Given the description of an element on the screen output the (x, y) to click on. 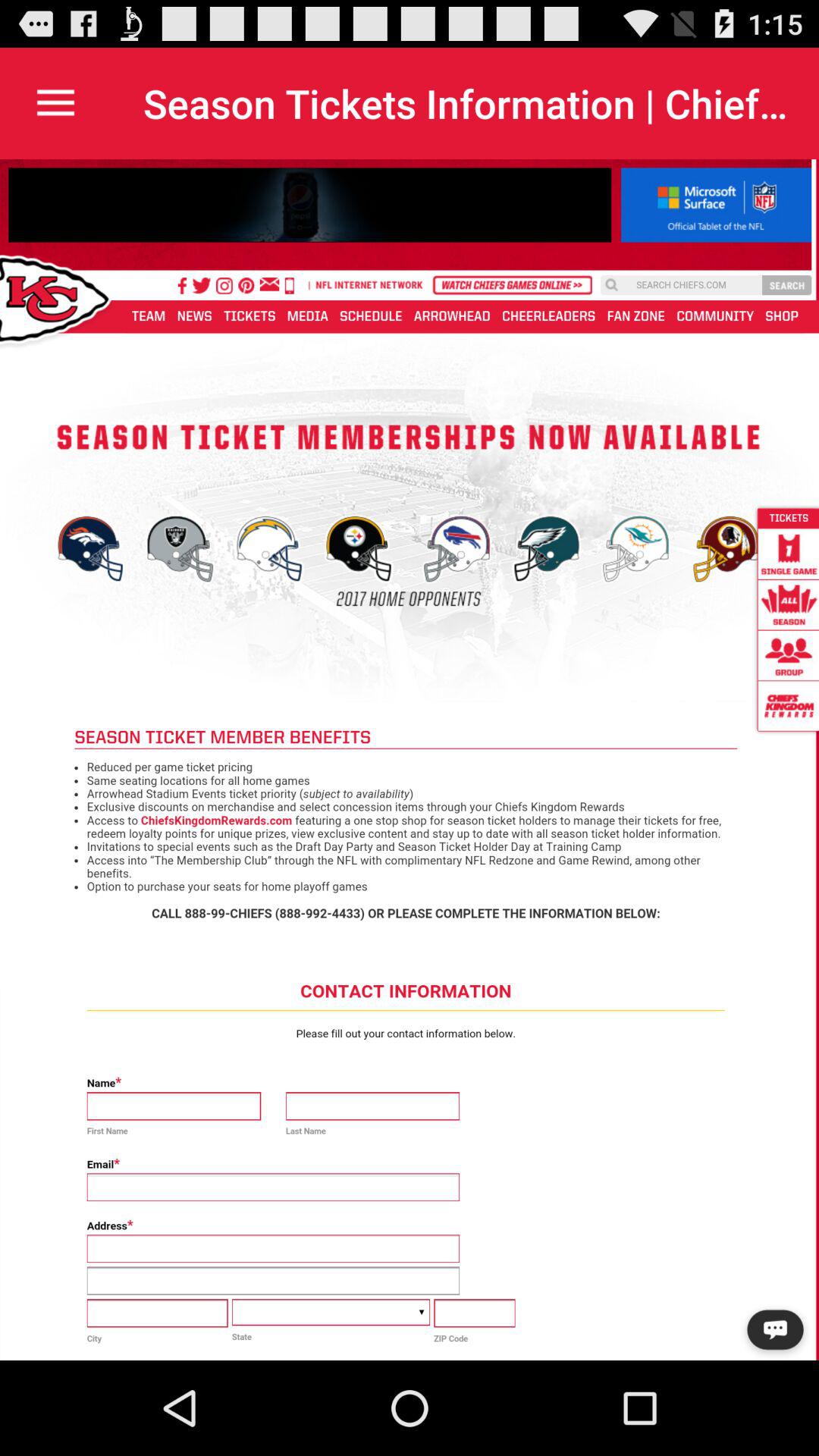
application from of text (409, 759)
